Given the description of an element on the screen output the (x, y) to click on. 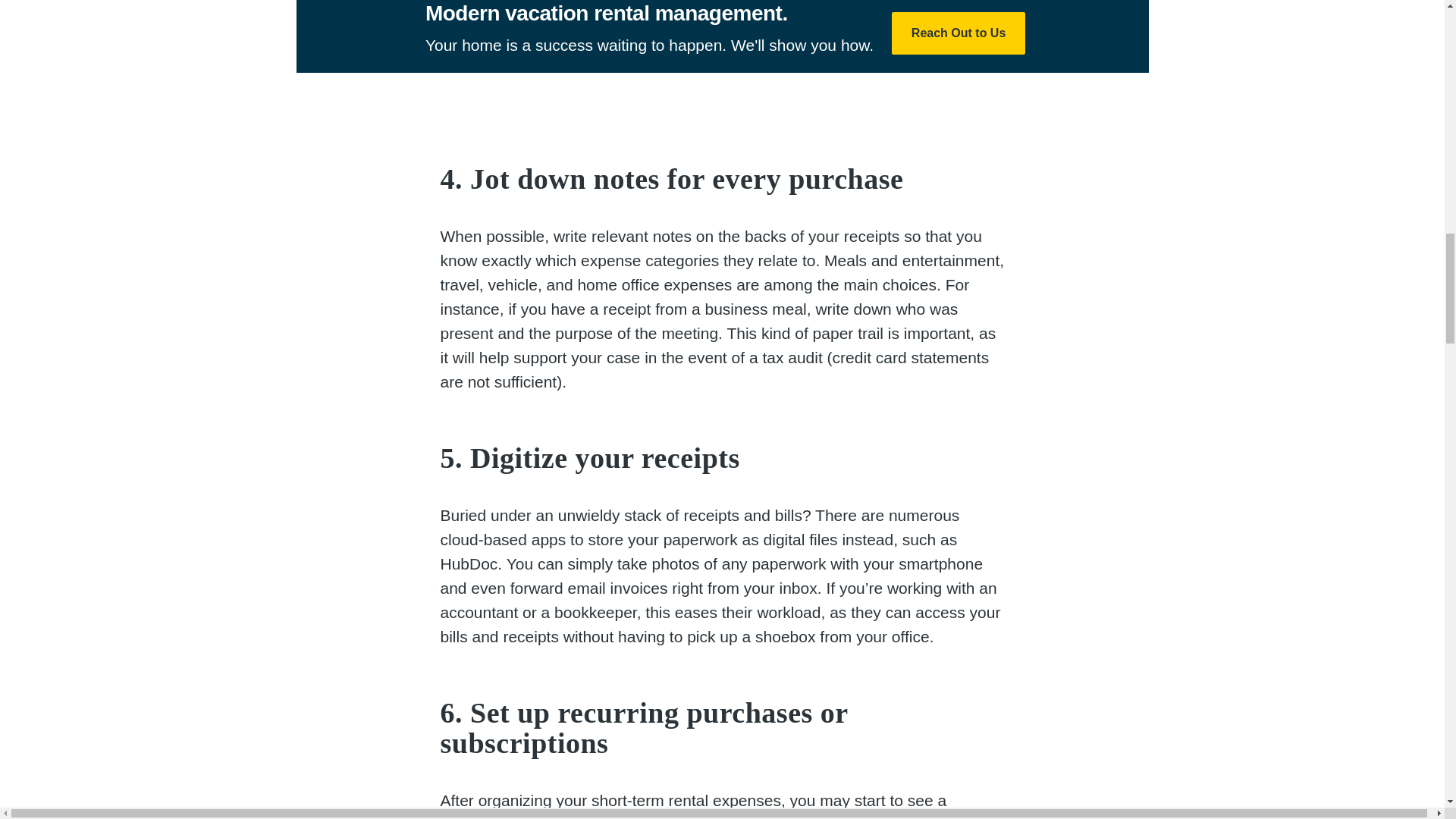
Reach Out to Us (958, 33)
